Given the description of an element on the screen output the (x, y) to click on. 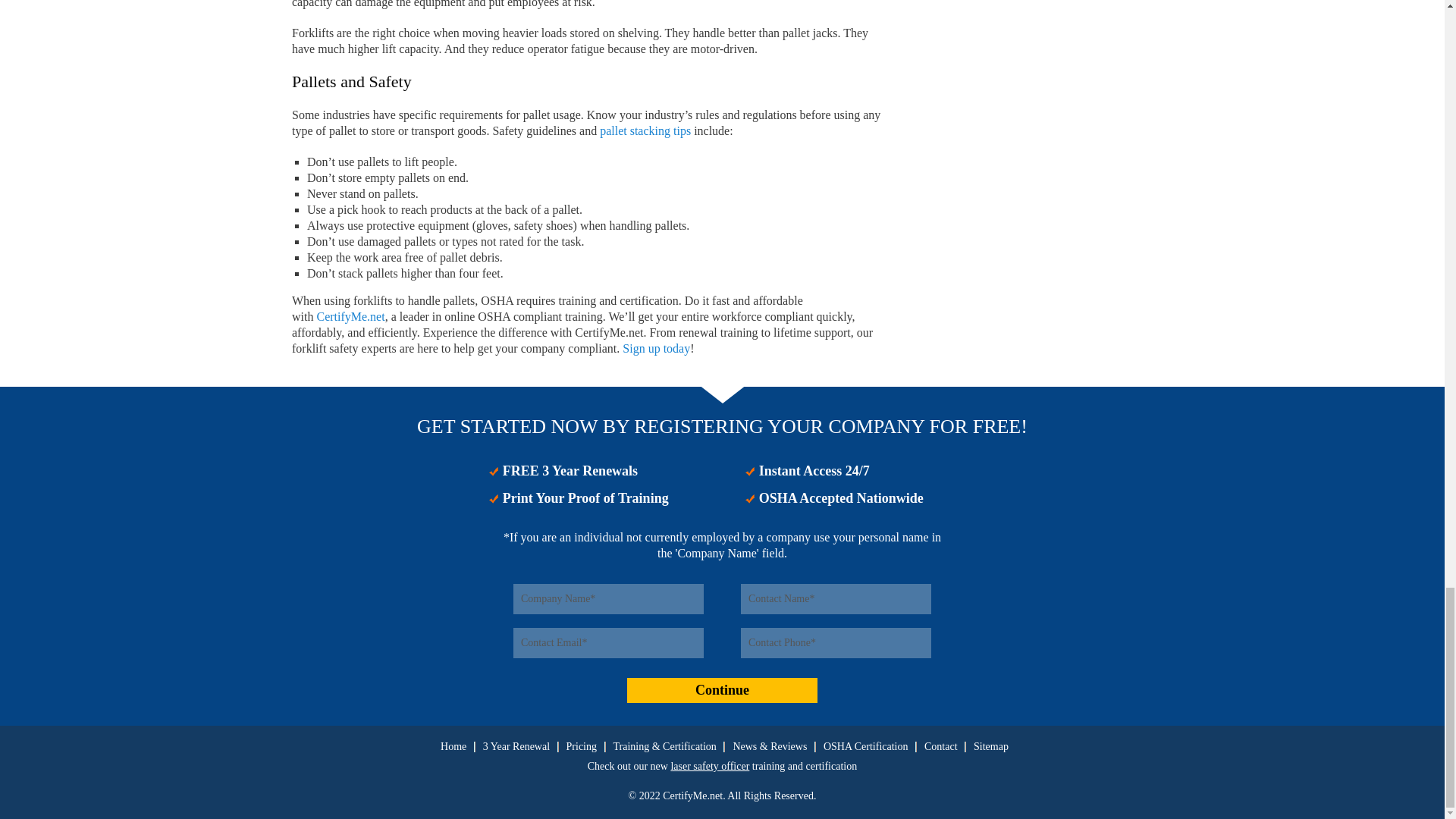
pallet stacking tips (644, 130)
Pricing (581, 746)
3 Year Renewal (516, 746)
OSHA Certification (866, 746)
Home (453, 746)
Continue (721, 690)
CertifyMe.net (349, 316)
Continue (721, 690)
Sign up today (656, 348)
